Given the description of an element on the screen output the (x, y) to click on. 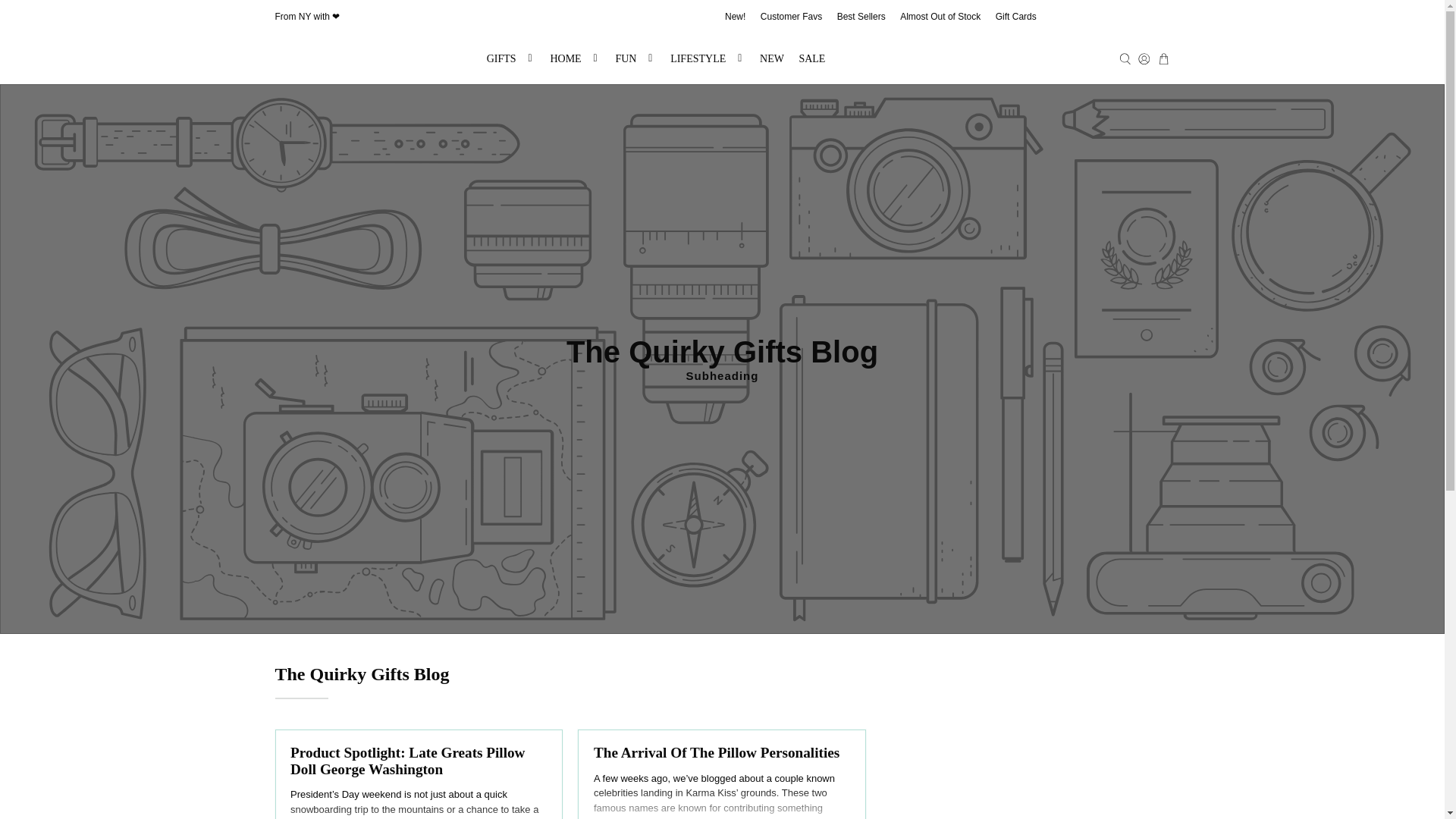
Customer Favs (790, 16)
Karma Kiss (376, 58)
NEW (771, 58)
SALE (812, 58)
Almost Out of Stock (940, 16)
New! (734, 16)
FUN (635, 58)
HOME (575, 58)
LIFESTYLE (707, 58)
Best Sellers (861, 16)
